Given the description of an element on the screen output the (x, y) to click on. 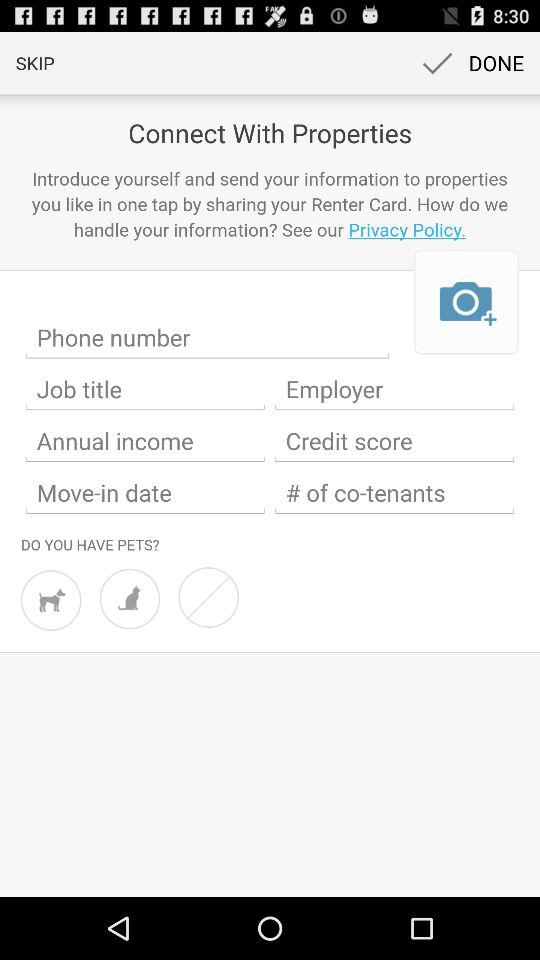
enter credit score (394, 441)
